Given the description of an element on the screen output the (x, y) to click on. 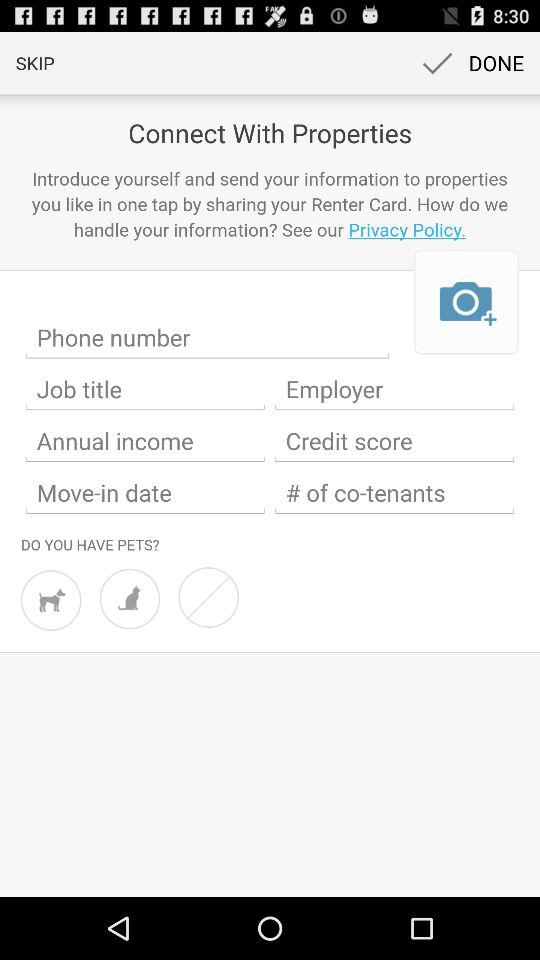
enter credit score (394, 441)
